Given the description of an element on the screen output the (x, y) to click on. 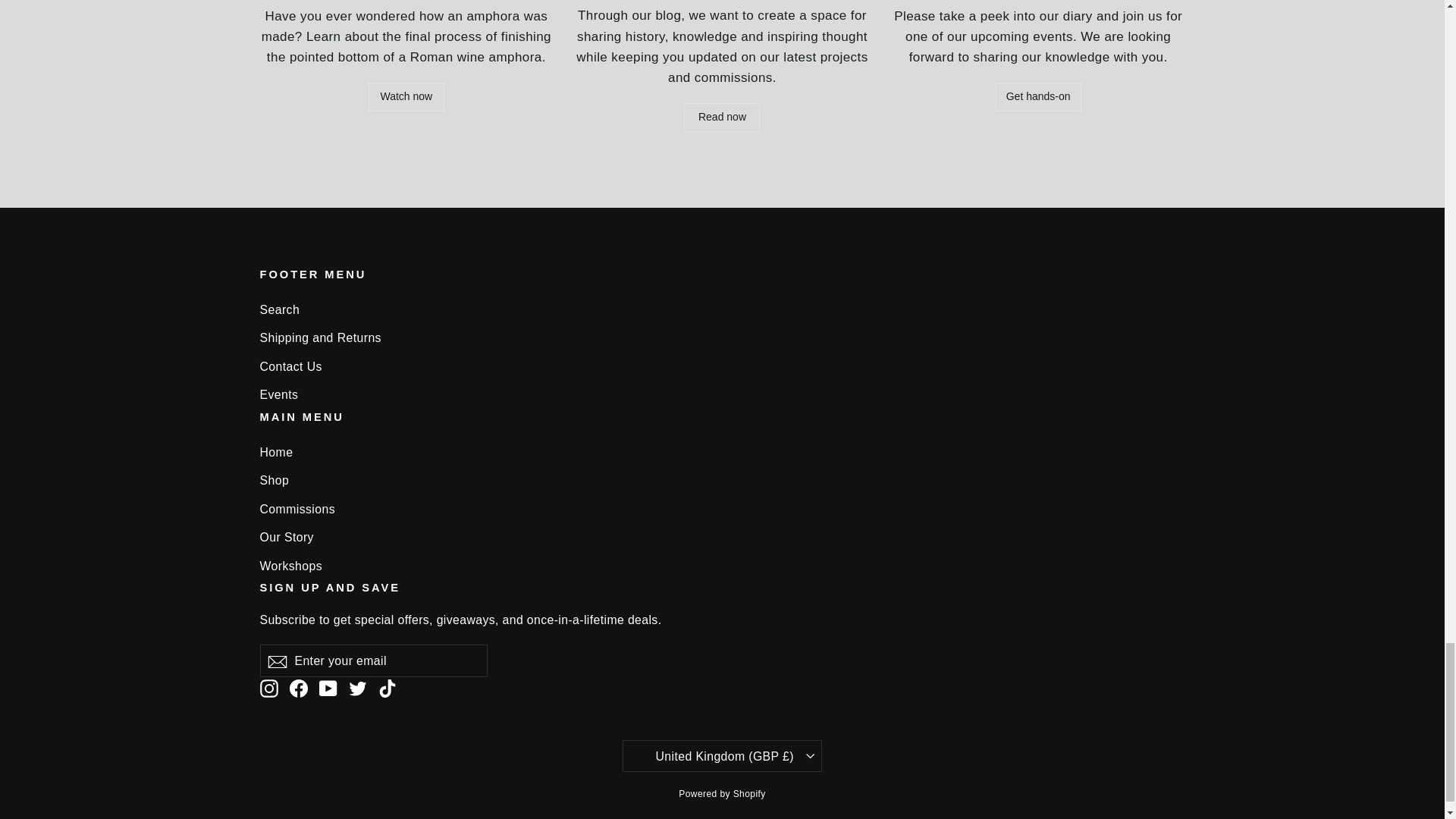
PottedHistory on Facebook (298, 687)
PottedHistory on Twitter (357, 687)
icon-email (276, 661)
instagram (268, 688)
PottedHistory on YouTube (327, 687)
twitter (357, 688)
